Given the description of an element on the screen output the (x, y) to click on. 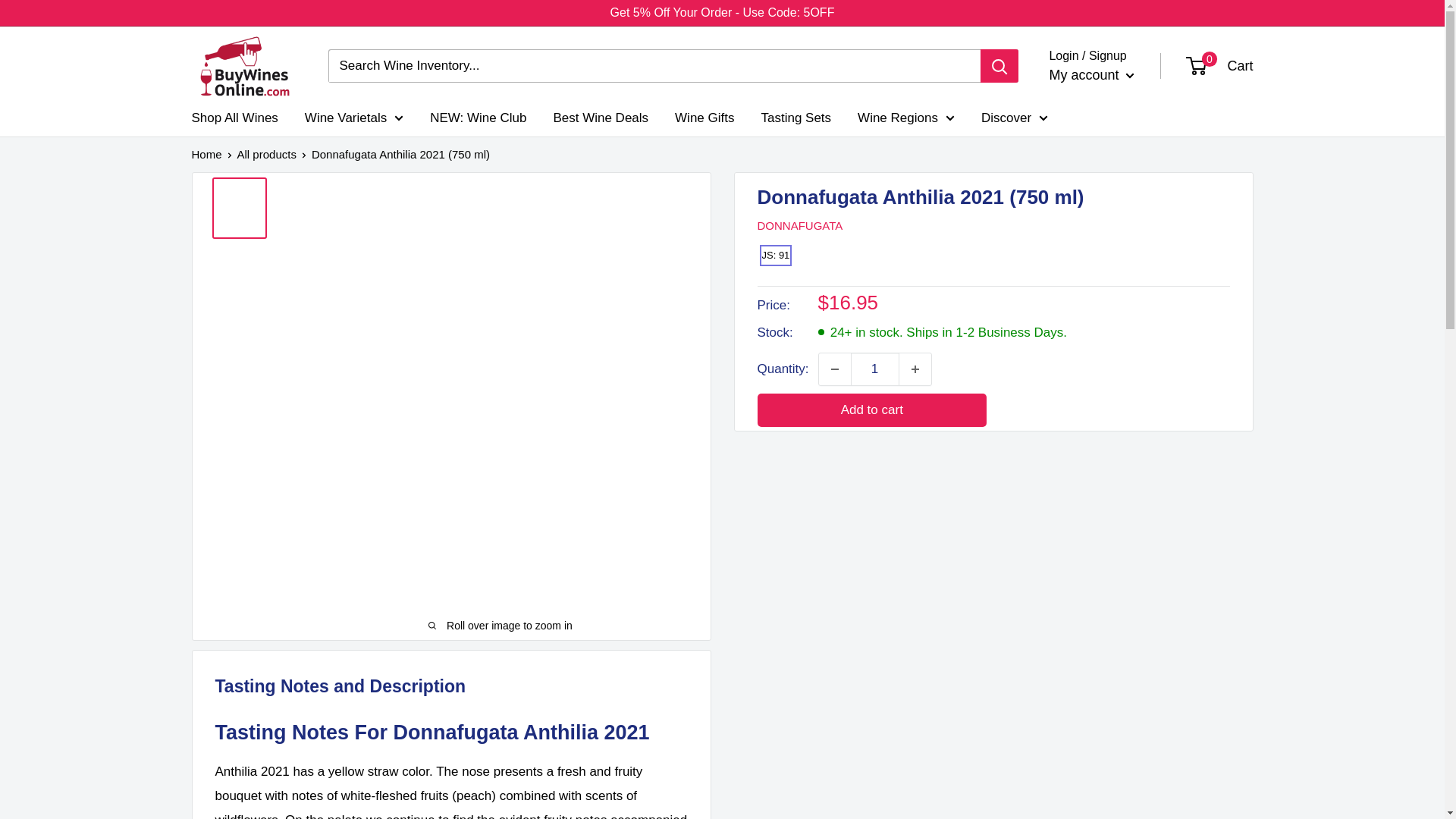
Decrease quantity by 1 (834, 368)
1 (874, 368)
Increase quantity by 1 (915, 368)
